Given the description of an element on the screen output the (x, y) to click on. 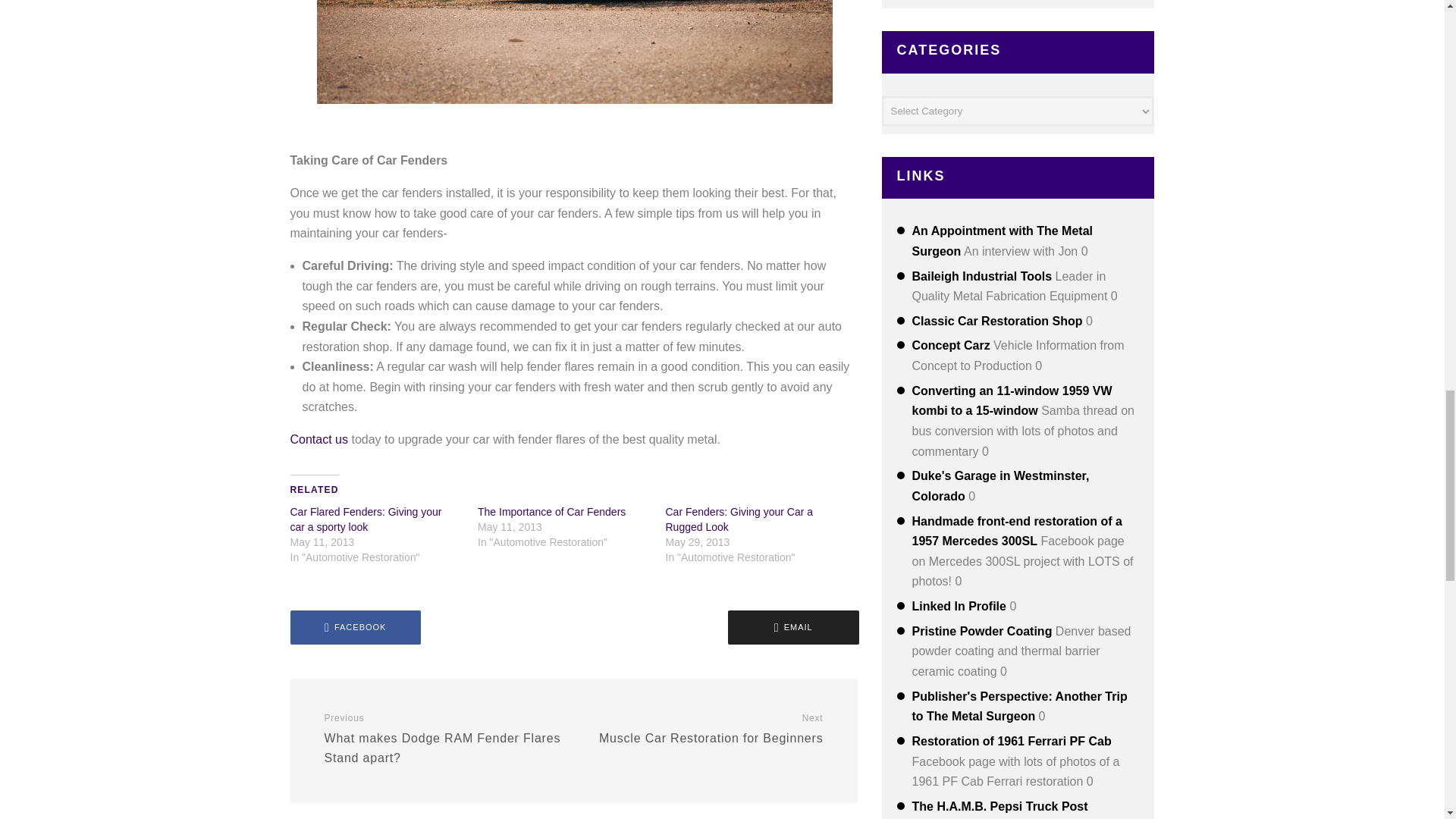
Contact us (443, 738)
Facebook page on Mercedes 300SL project with LOTS of photos! (318, 439)
EMAIL (1016, 531)
Car Flared Fenders: Giving your car a sporty look (793, 627)
The Importance of Car Fenders (365, 519)
FACEBOOK (704, 728)
The Importance of Car Fenders (551, 511)
Vehicle Information from Concept to Production (354, 627)
Car Fenders: Giving your Car a Rugged Look (551, 511)
Car Flared Fenders: Giving your car a sporty look (950, 345)
Car Fenders: Giving your Car a Rugged Look (739, 519)
An interview with Jon (365, 519)
